Given the description of an element on the screen output the (x, y) to click on. 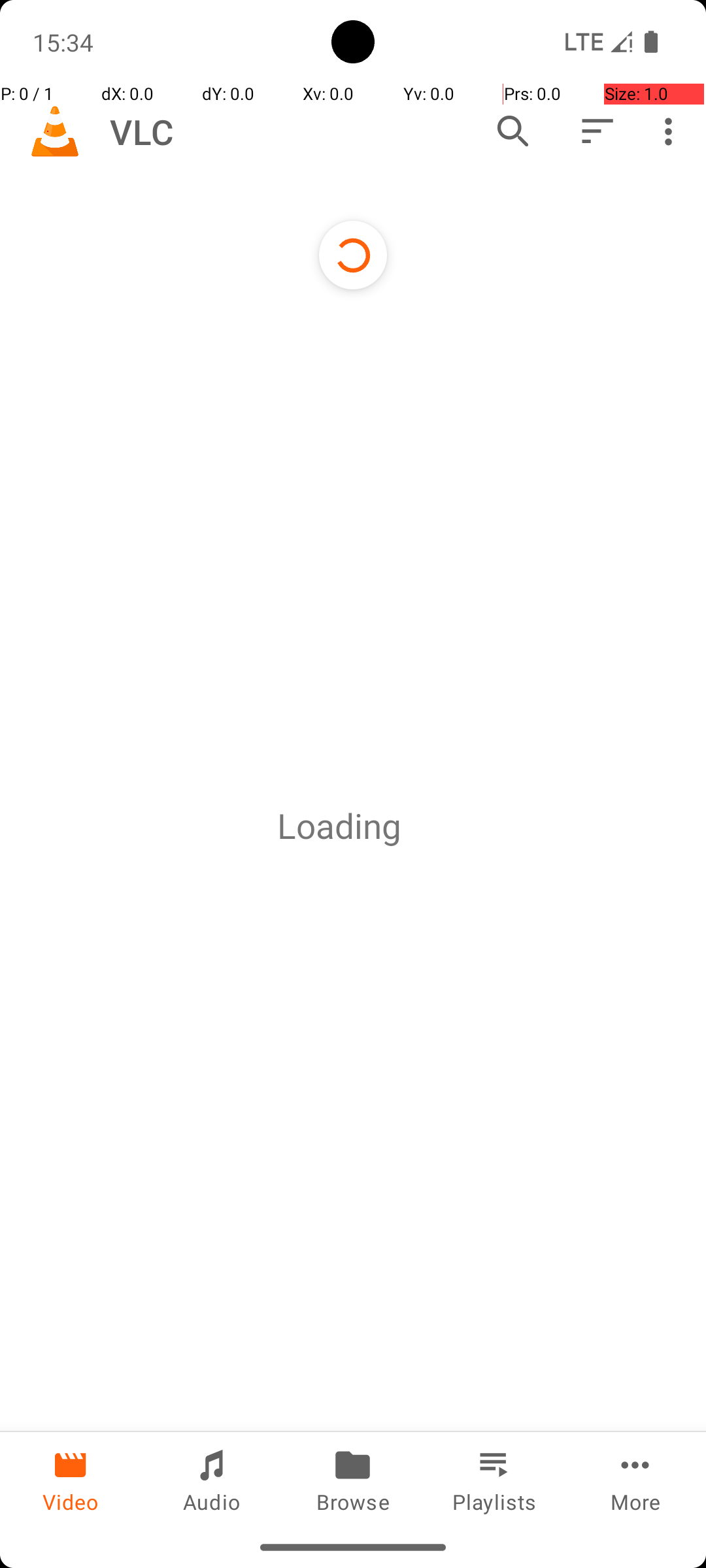
Sort by… Element type: android.widget.TextView (595, 131)
Loading Element type: android.widget.TextView (339, 825)
... Element type: android.widget.TextView (414, 825)
